Given the description of an element on the screen output the (x, y) to click on. 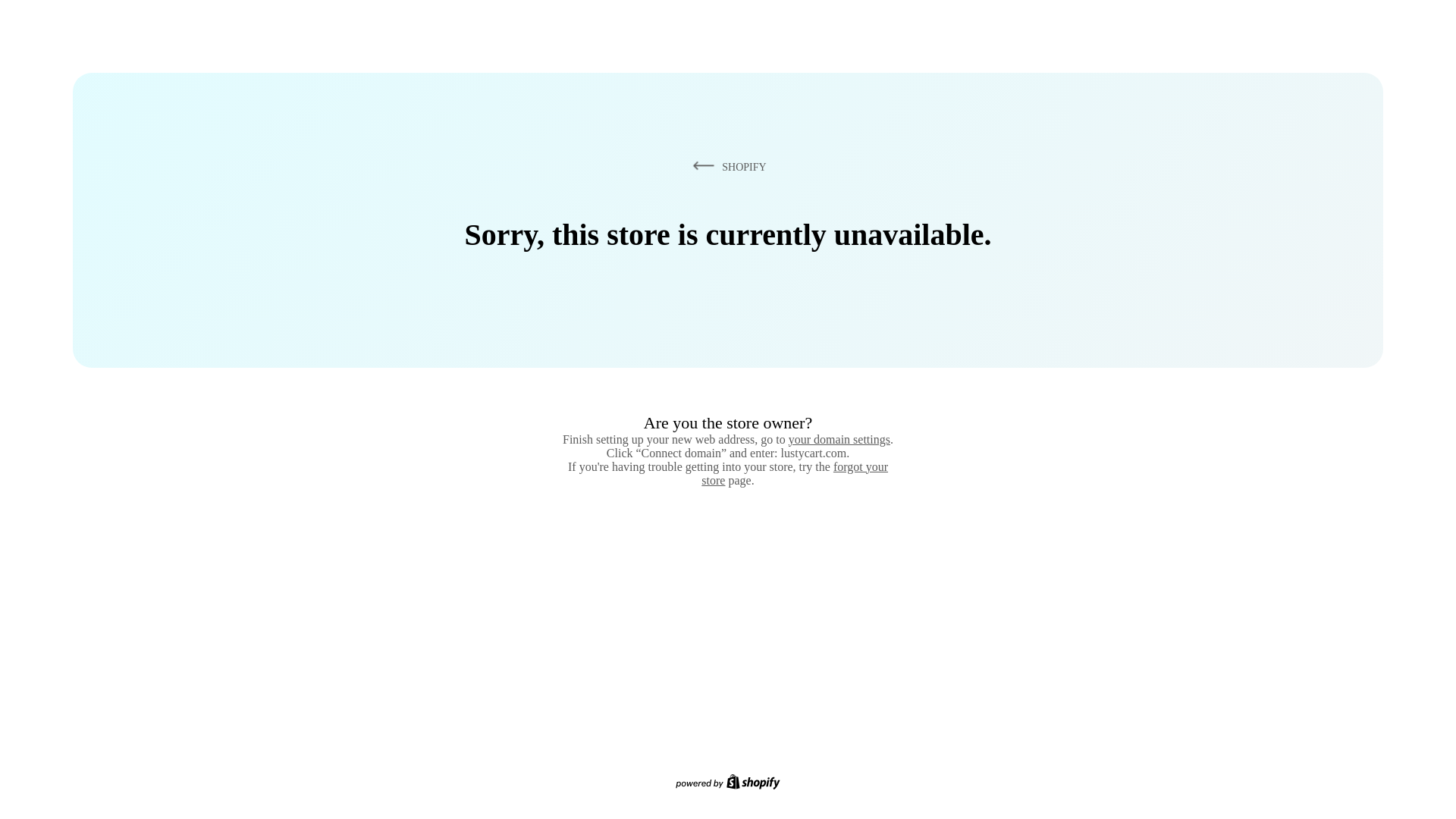
forgot your store (794, 473)
your domain settings (839, 439)
SHOPIFY (726, 166)
